Given the description of an element on the screen output the (x, y) to click on. 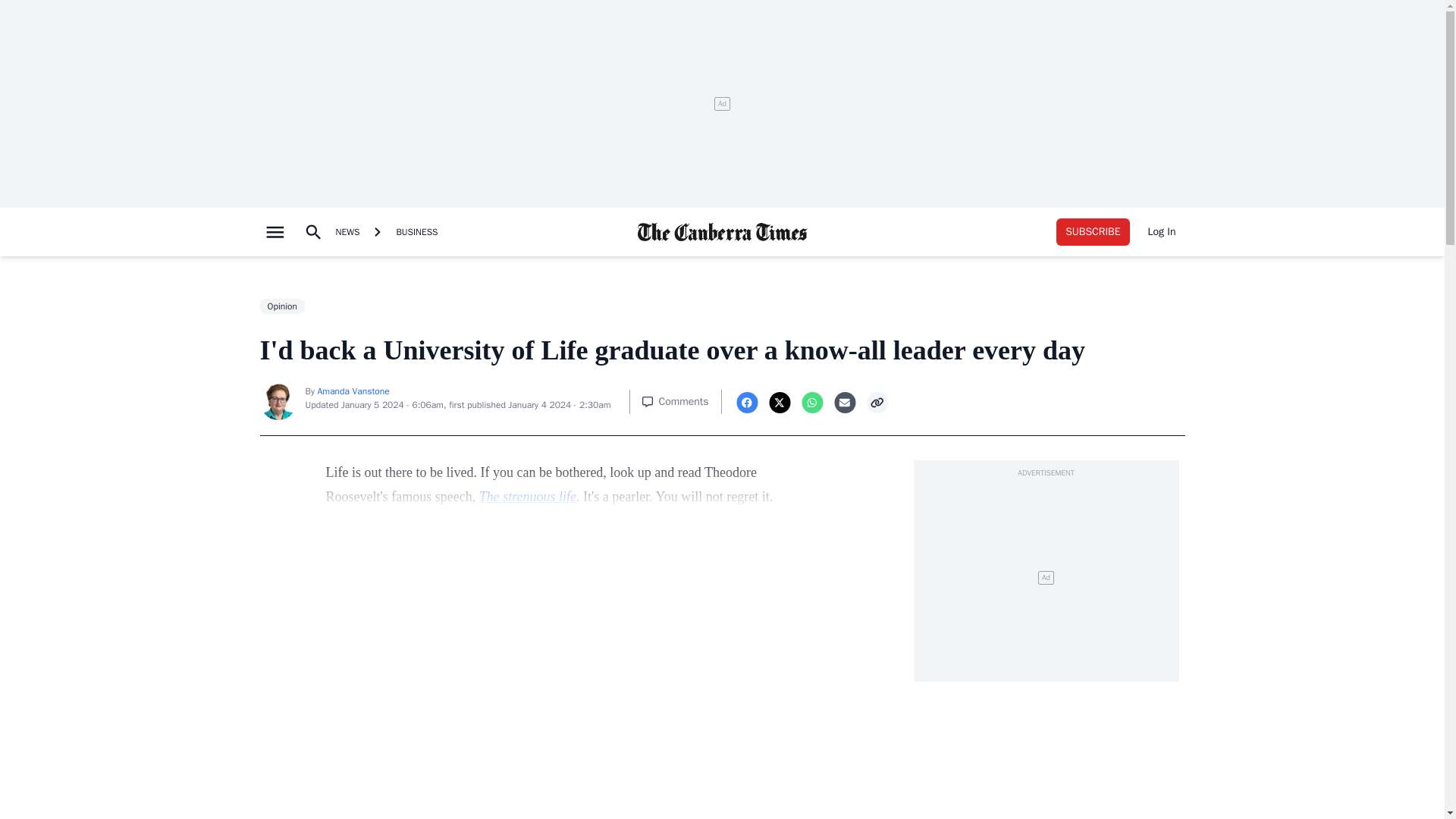
Log In (1161, 231)
BUSINESS (417, 232)
SUBSCRIBE (1093, 231)
NEWS (347, 232)
